Given the description of an element on the screen output the (x, y) to click on. 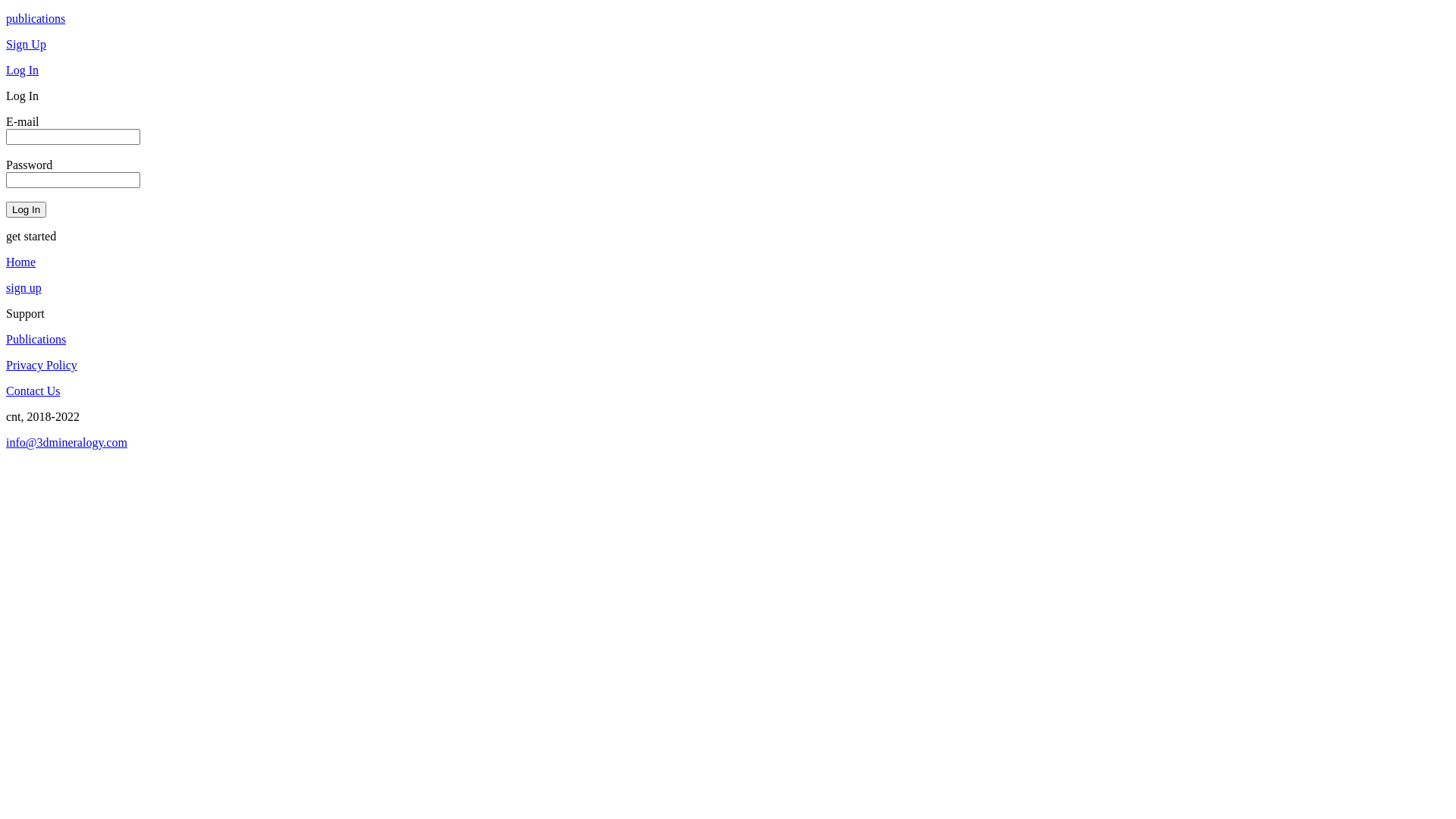
info@3dmineralogy.com Element type: text (727, 442)
Home Element type: text (727, 262)
Privacy Policy Element type: text (727, 365)
sign up Element type: text (727, 287)
Contact Us Element type: text (727, 391)
Log In Element type: text (26, 209)
Sign Up Element type: text (727, 44)
publications Element type: text (727, 18)
Publications Element type: text (727, 339)
Log In Element type: text (727, 70)
